Given the description of an element on the screen output the (x, y) to click on. 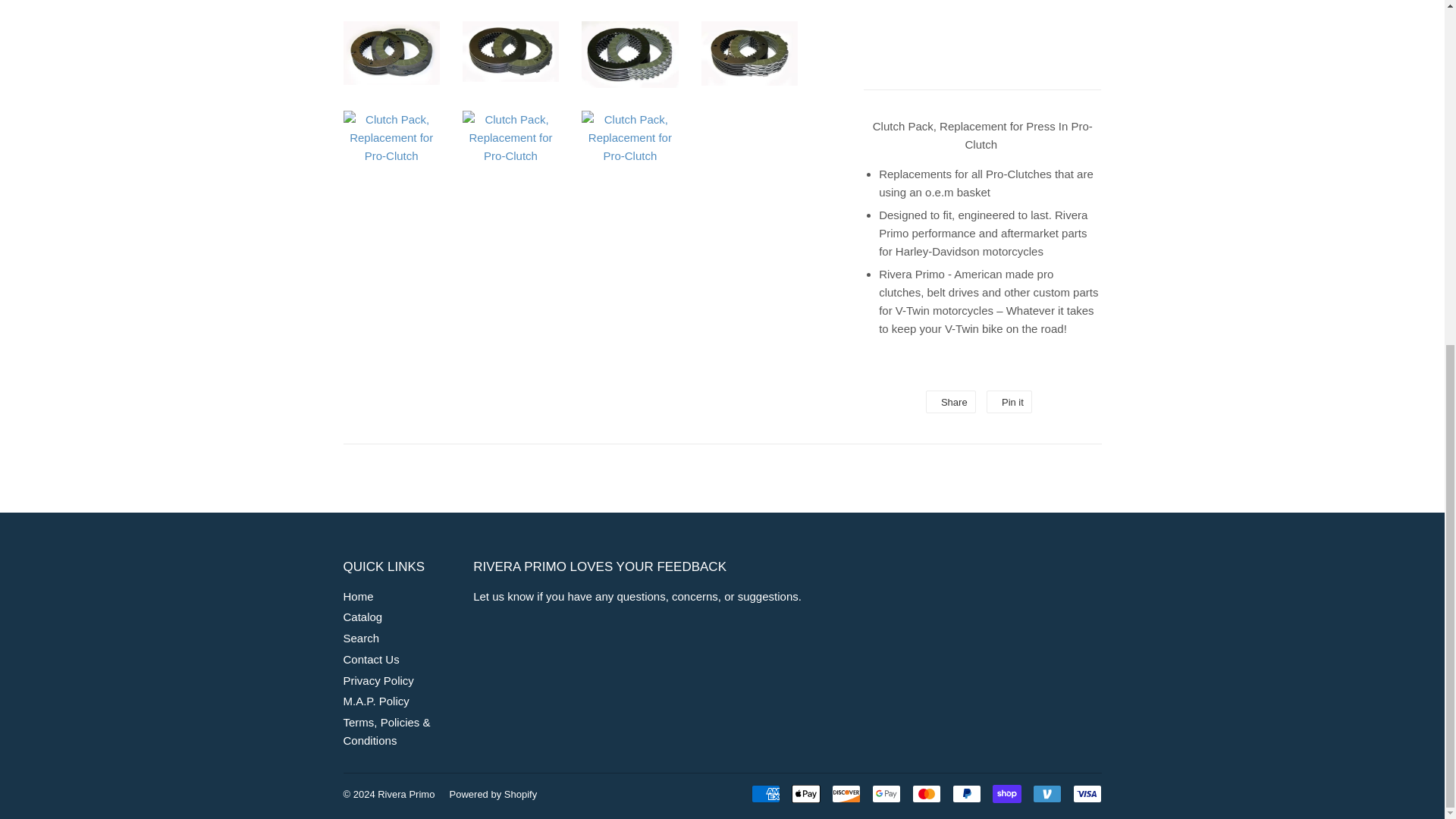
Shop Pay (1005, 793)
Venmo (1046, 793)
Mastercard (925, 793)
Apple Pay (806, 793)
Share on Facebook (950, 401)
Google Pay (886, 793)
American Express (764, 793)
PayPal (966, 793)
Visa (1085, 793)
Pin on Pinterest (1009, 401)
Discover (845, 793)
